Given the description of an element on the screen output the (x, y) to click on. 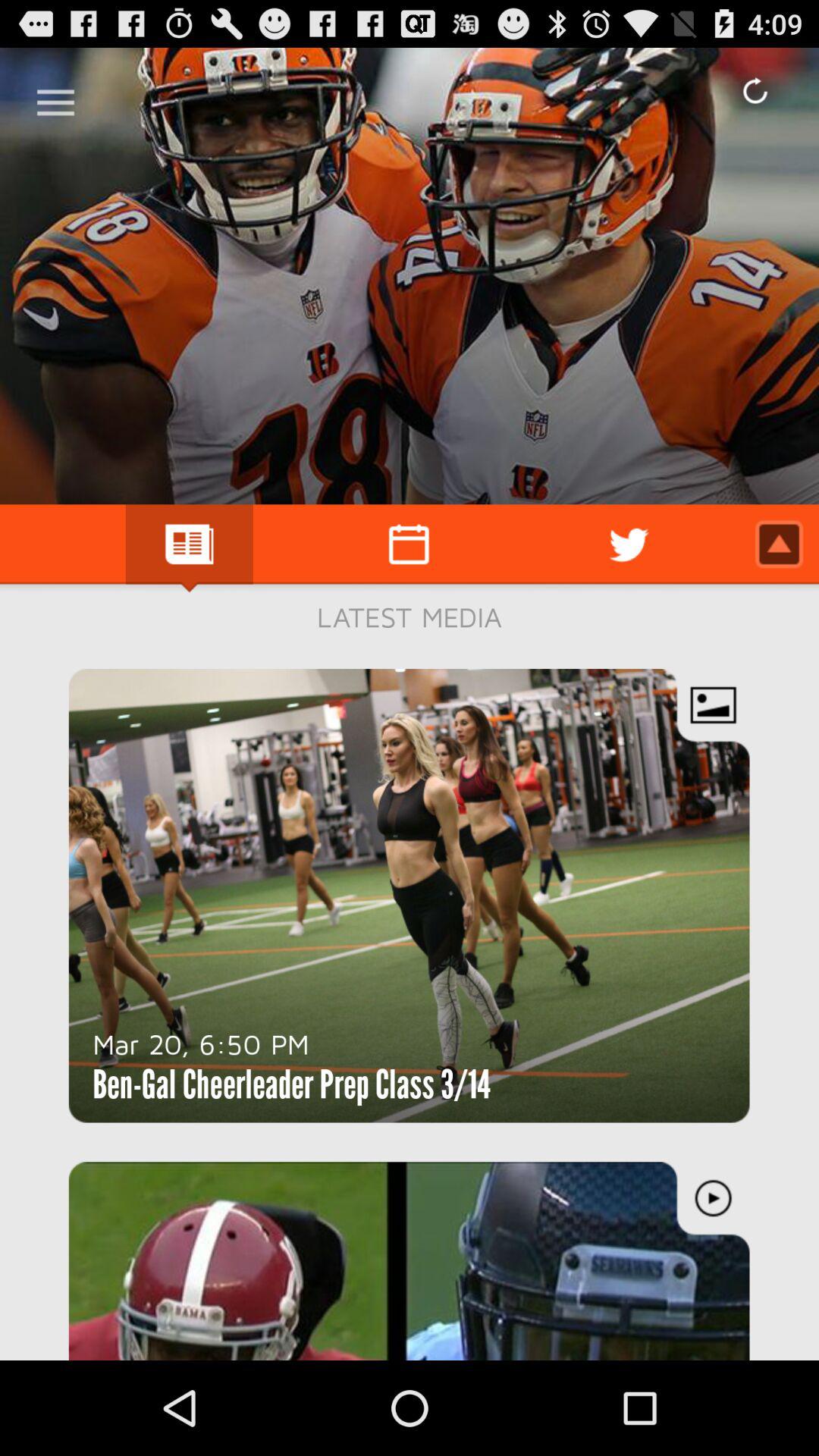
open menu (55, 97)
